Given the description of an element on the screen output the (x, y) to click on. 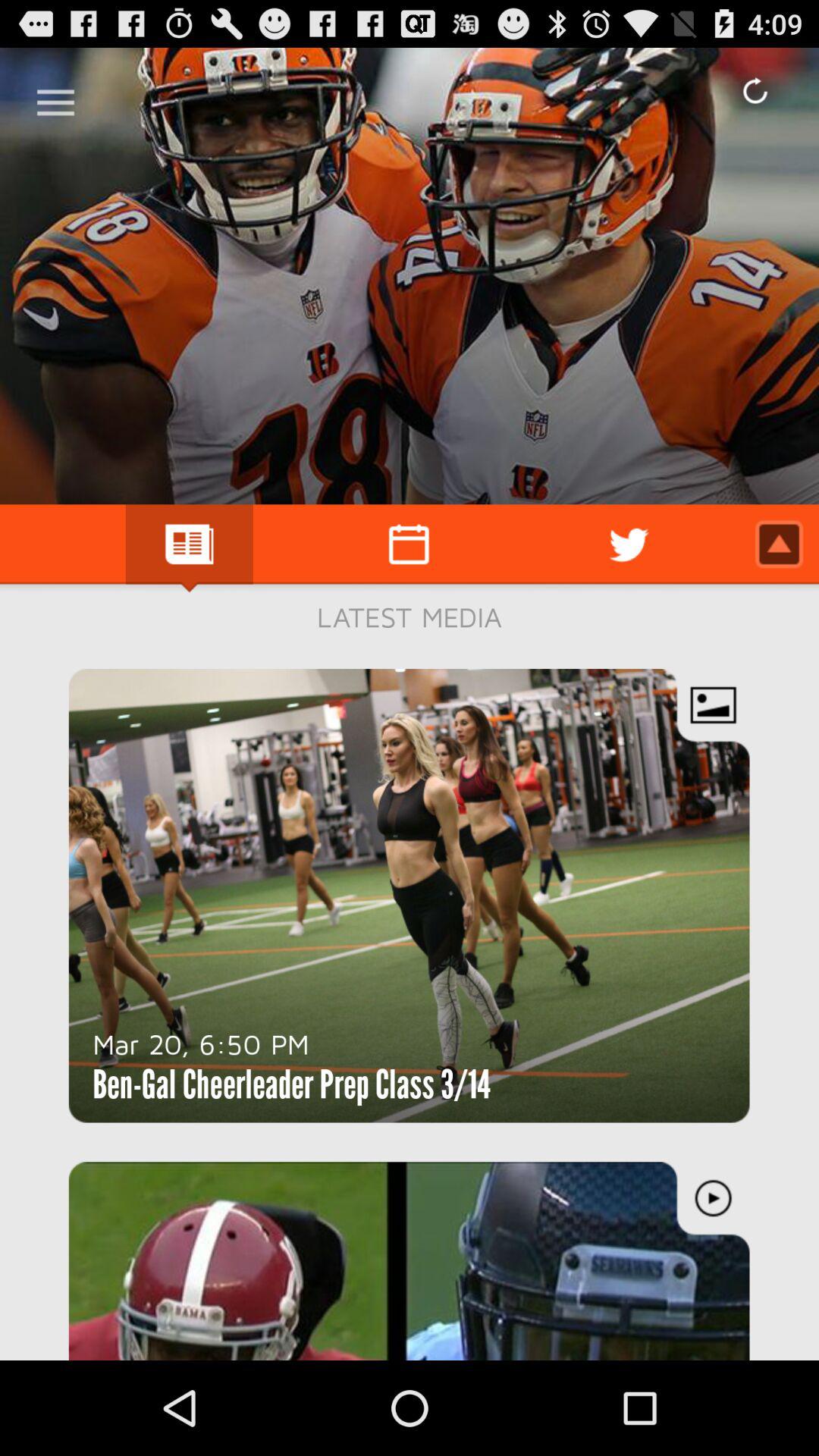
open menu (55, 97)
